Given the description of an element on the screen output the (x, y) to click on. 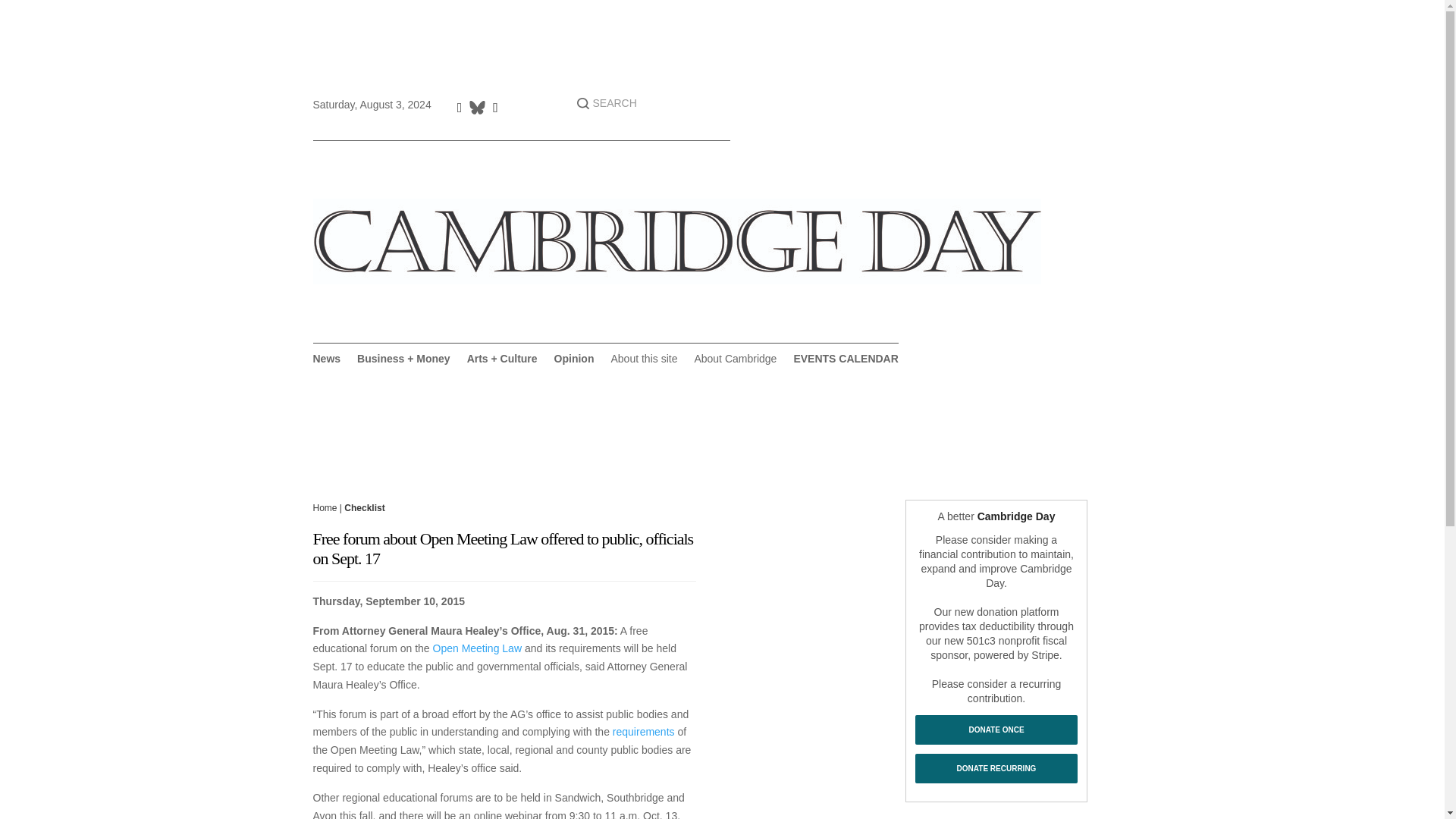
News (326, 361)
CD logo big (677, 241)
